Given the description of an element on the screen output the (x, y) to click on. 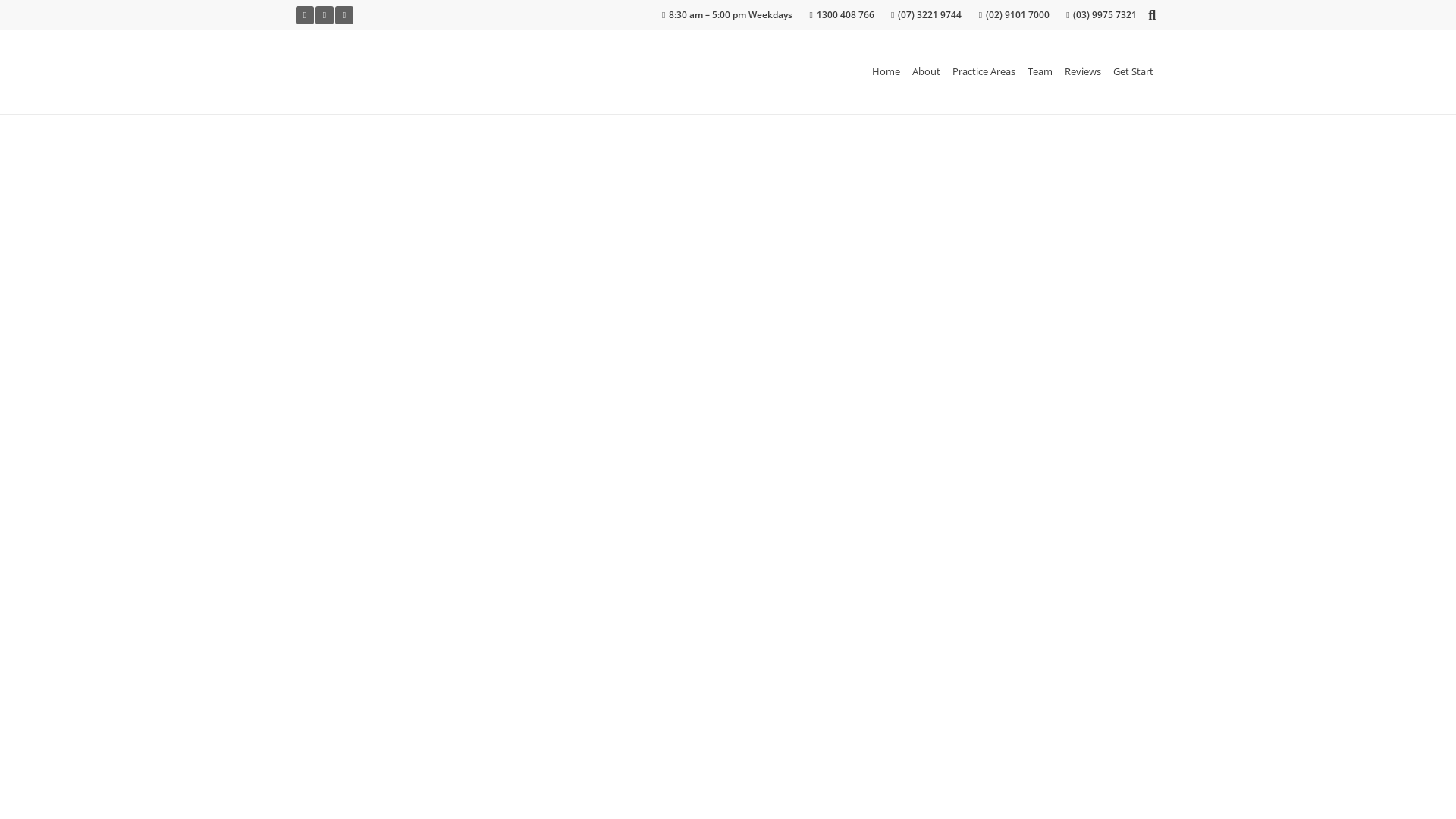
Get Start Element type: text (1133, 70)
Home Element type: text (886, 70)
LinkedIn Element type: hover (344, 15)
About Element type: text (926, 70)
YouTube Element type: hover (324, 15)
(07) 3221 9744 Element type: text (926, 14)
Facebook Element type: hover (304, 15)
(02) 9101 7000 Element type: text (1014, 14)
Practice Areas Element type: text (983, 70)
Reviews Element type: text (1082, 70)
Team Element type: text (1039, 70)
(03) 9975 7321 Element type: text (1101, 14)
1300 408 766 Element type: text (841, 14)
